Given the description of an element on the screen output the (x, y) to click on. 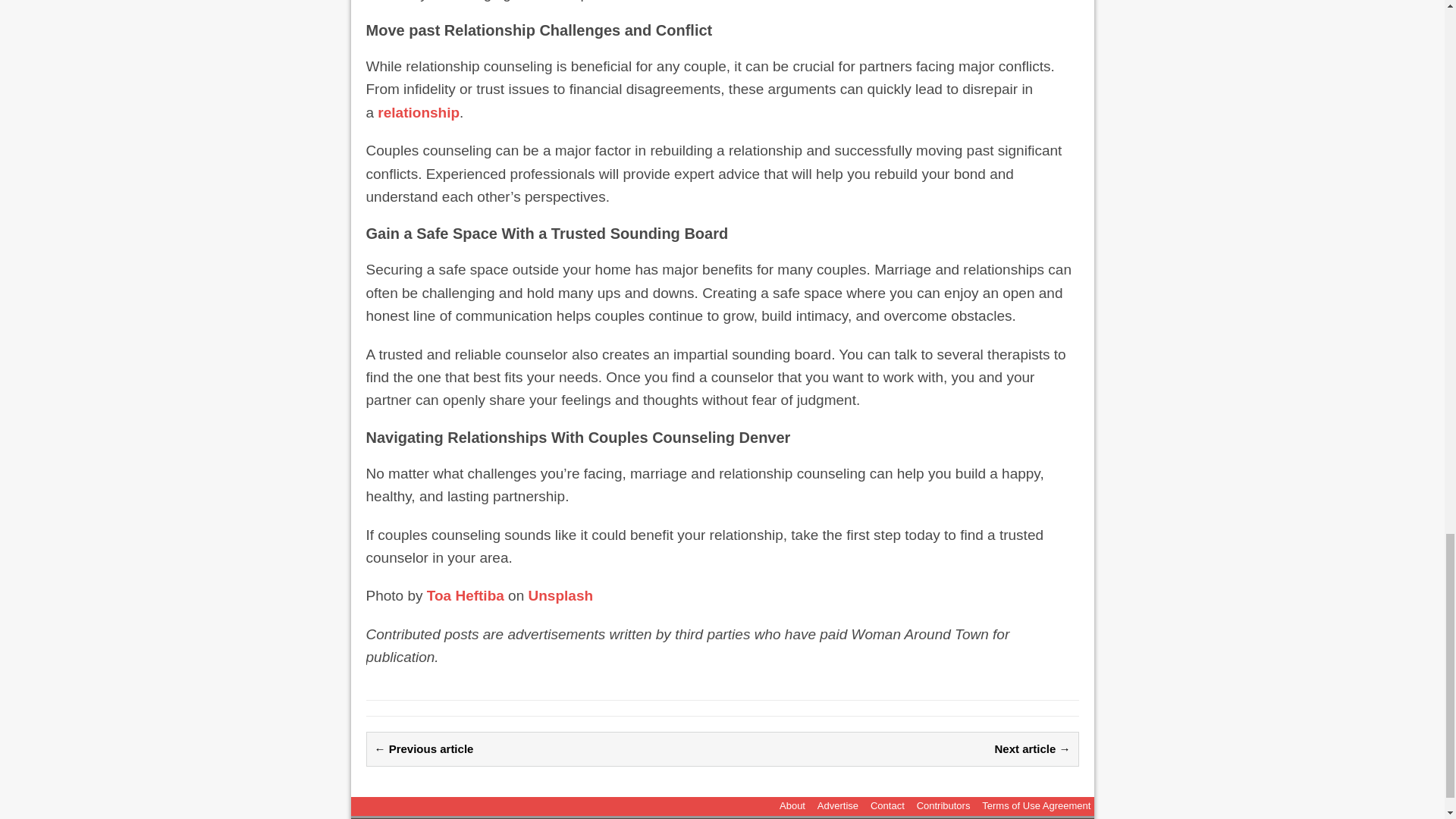
Unsplash (561, 595)
About (791, 805)
relationship (418, 112)
Advertise (837, 805)
Contributors (942, 805)
Contact (887, 805)
Terms of Use Agreement (1035, 805)
Toa Heftiba (464, 595)
